Given the description of an element on the screen output the (x, y) to click on. 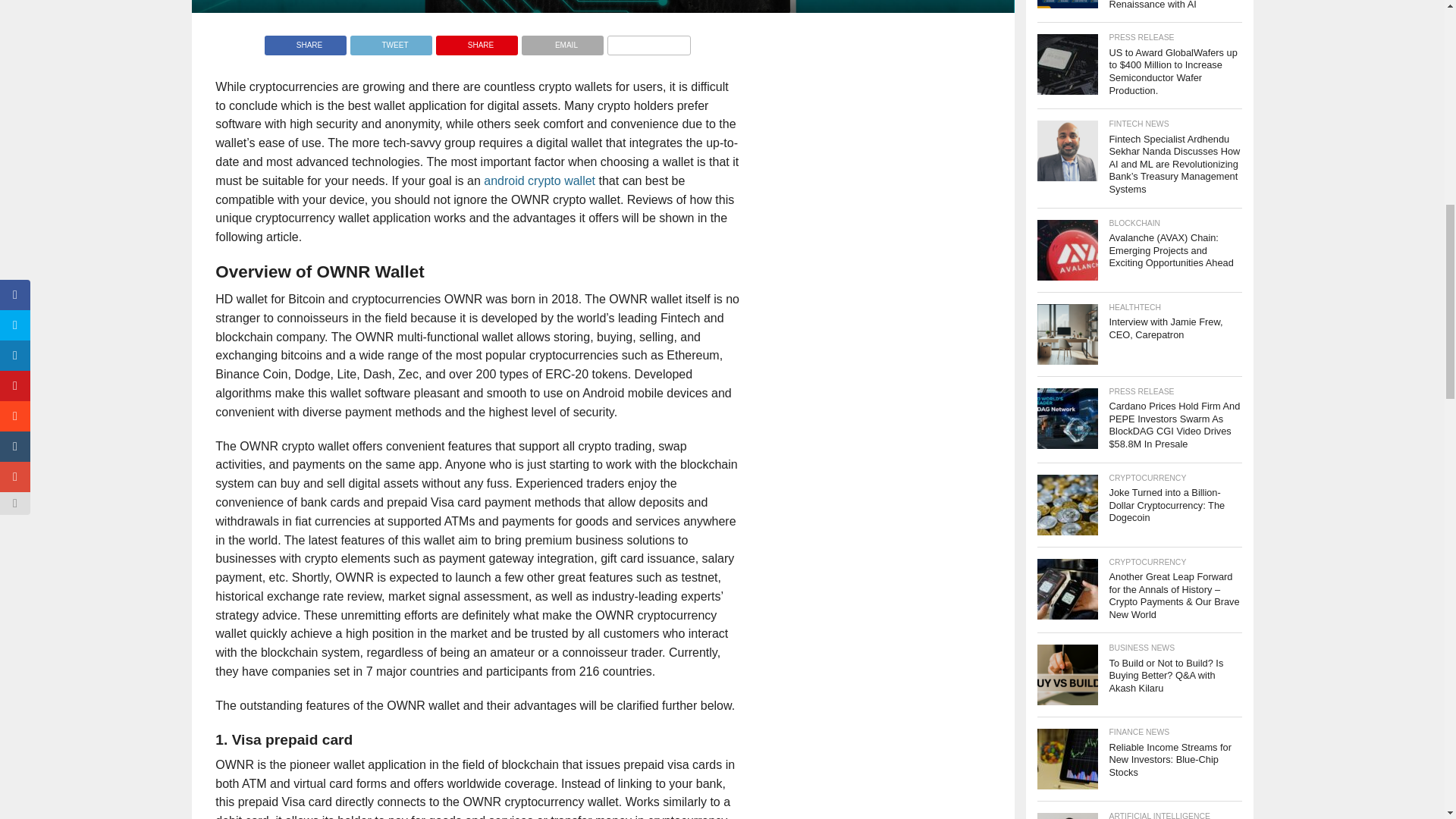
Tweet This Post (390, 41)
Share on Facebook (305, 41)
Pin This Post (476, 41)
